Given the description of an element on the screen output the (x, y) to click on. 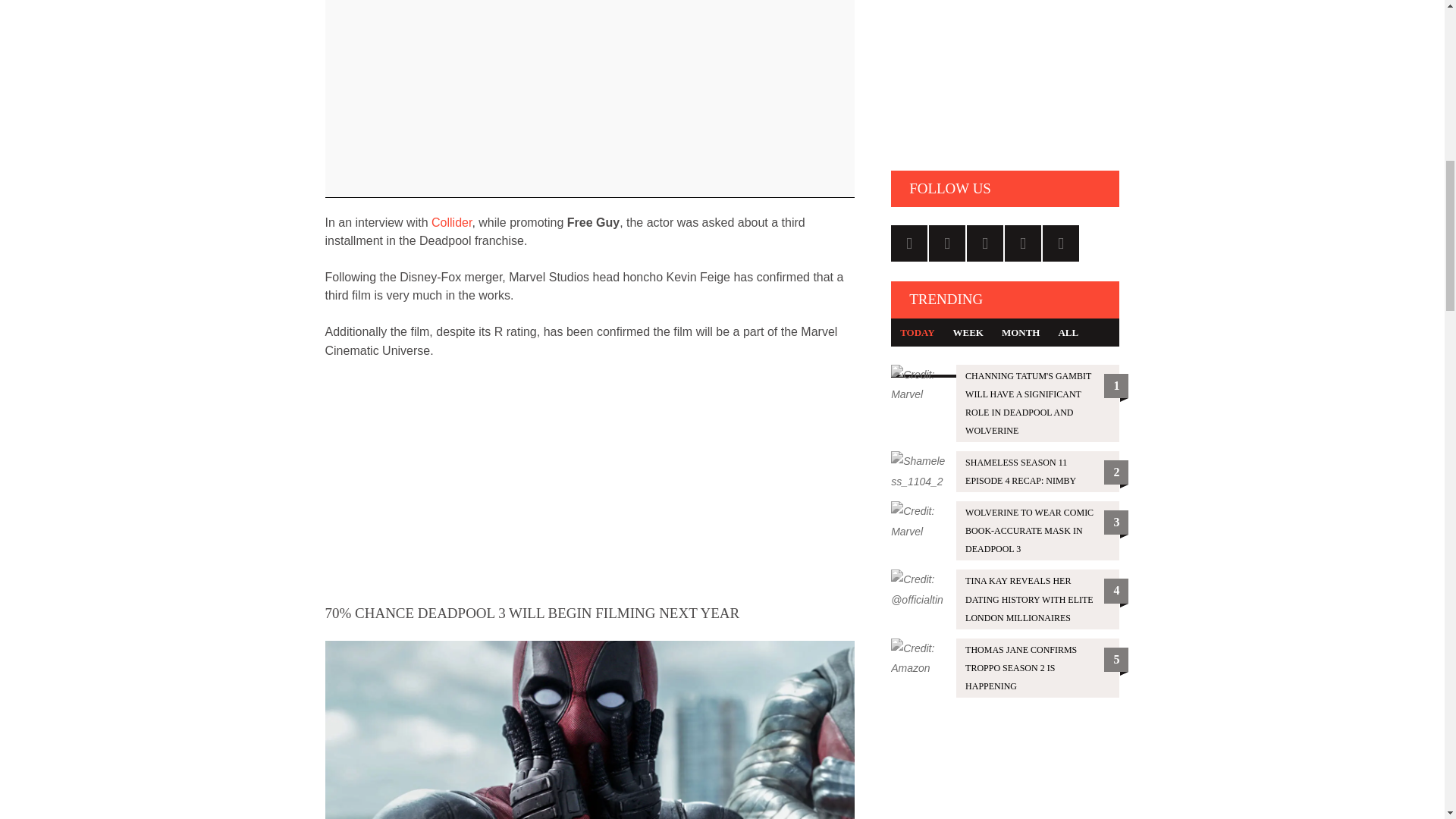
Thomas Jane Confirms Troppo Season 2 Is Happening (1005, 667)
Shameless Season 11 Episode 4 Recap: NIMBY (1005, 471)
Wolverine To Wear Comic Book-Accurate Mask In Deadpool 3 (1005, 530)
